Given the description of an element on the screen output the (x, y) to click on. 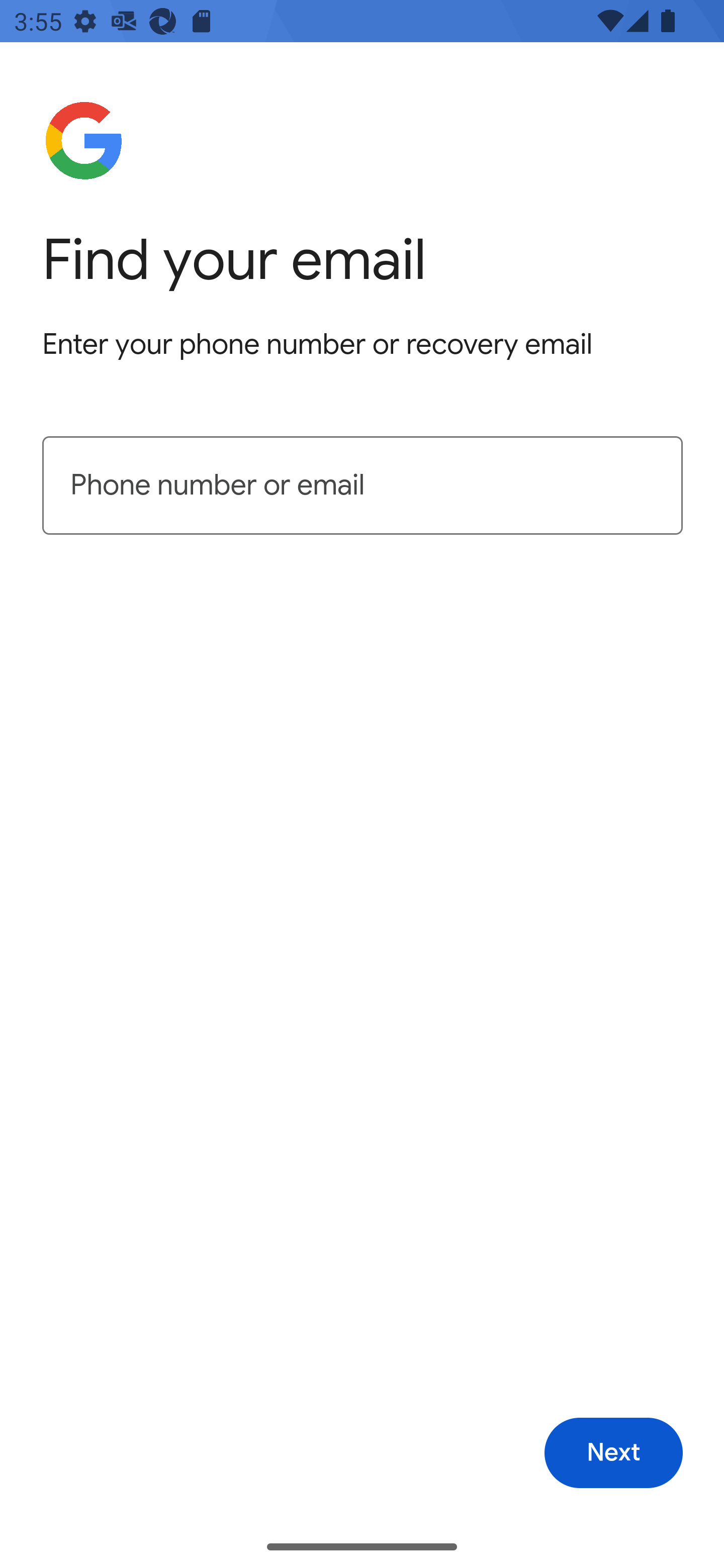
Next (613, 1453)
